Given the description of an element on the screen output the (x, y) to click on. 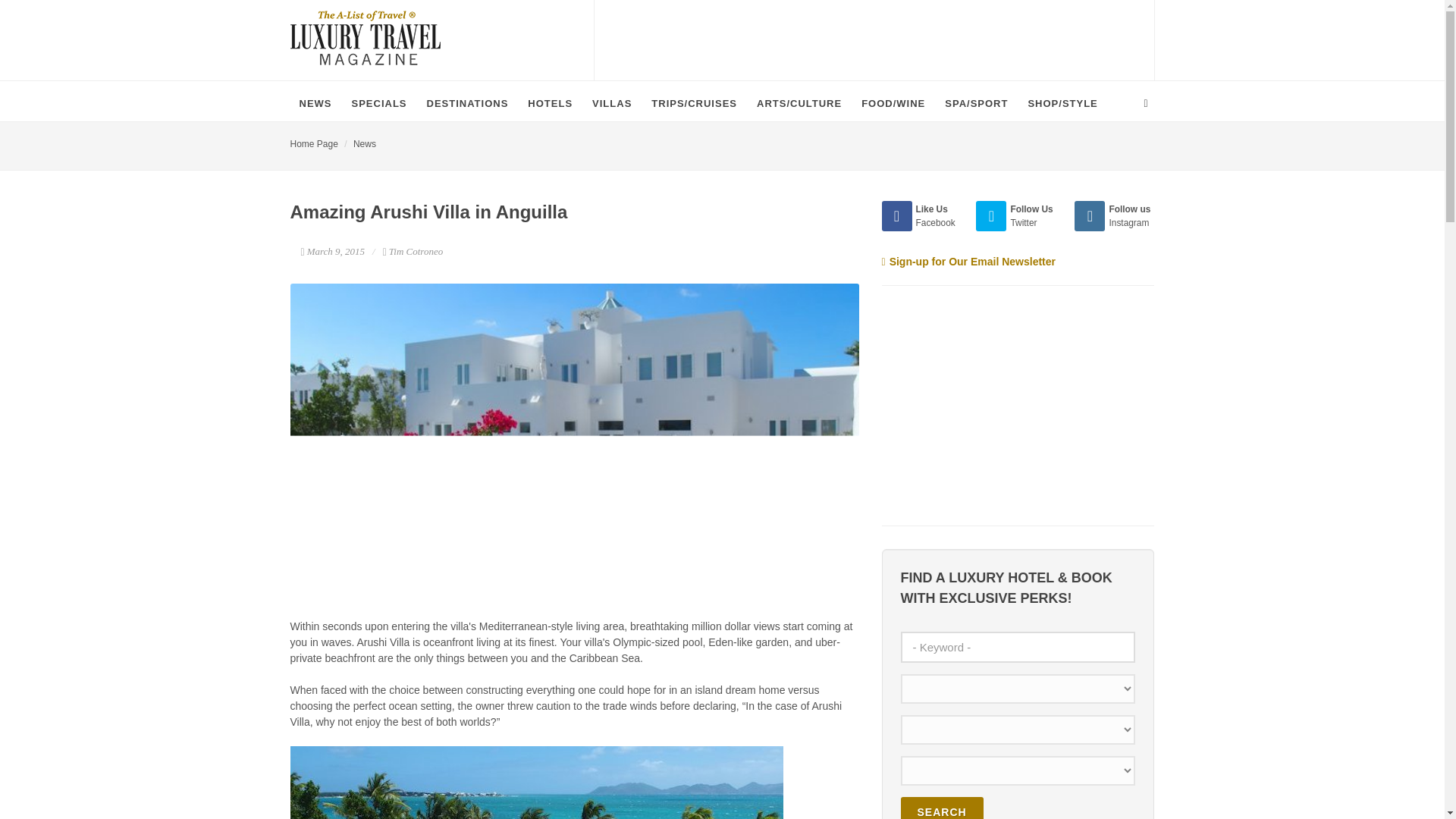
Search (942, 807)
VILLAS (611, 103)
HOTELS (549, 103)
DESTINATIONS (467, 103)
SPECIALS (379, 103)
NEWS (314, 103)
